Given the description of an element on the screen output the (x, y) to click on. 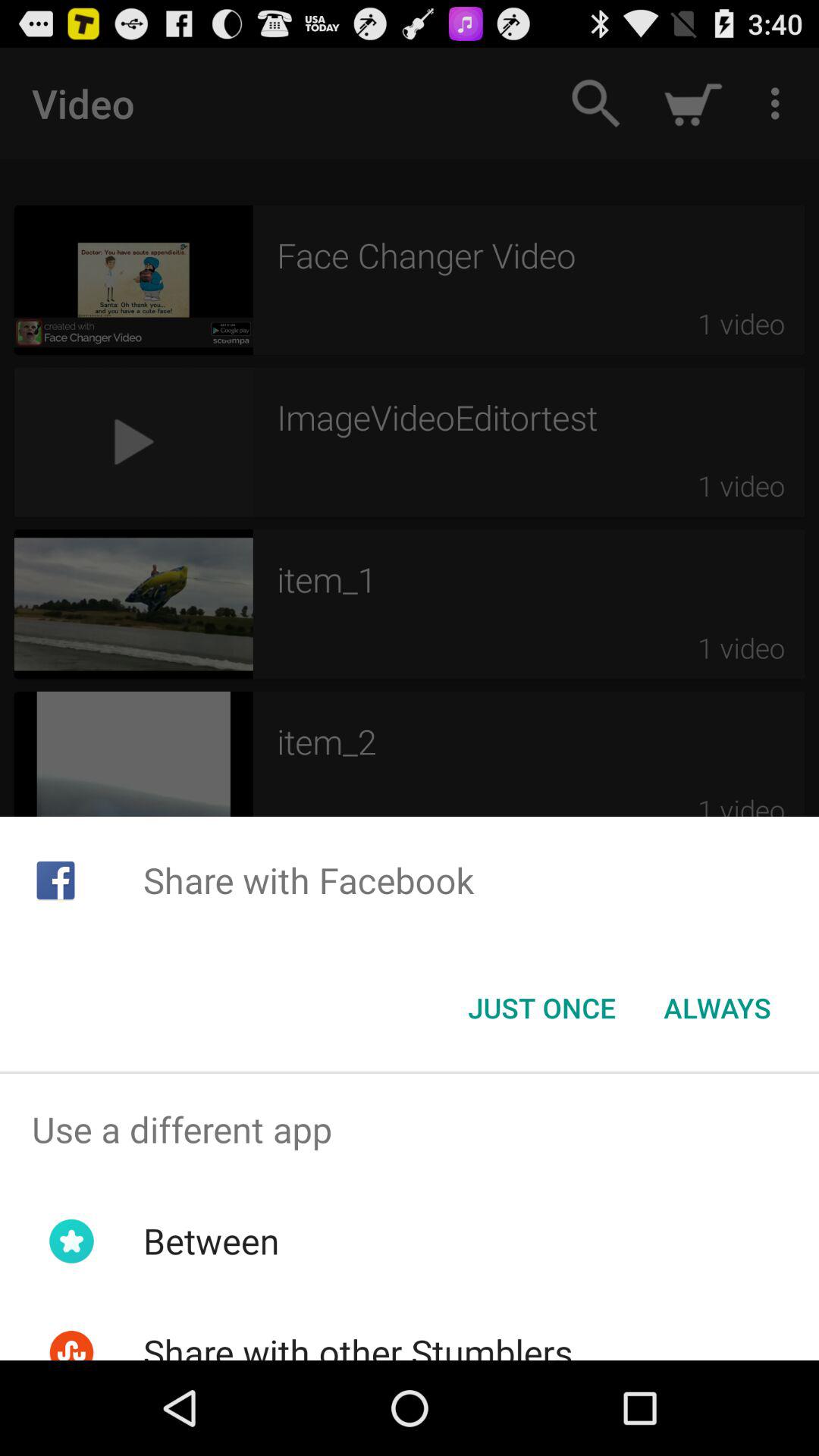
press item to the right of the just once icon (717, 1007)
